Given the description of an element on the screen output the (x, y) to click on. 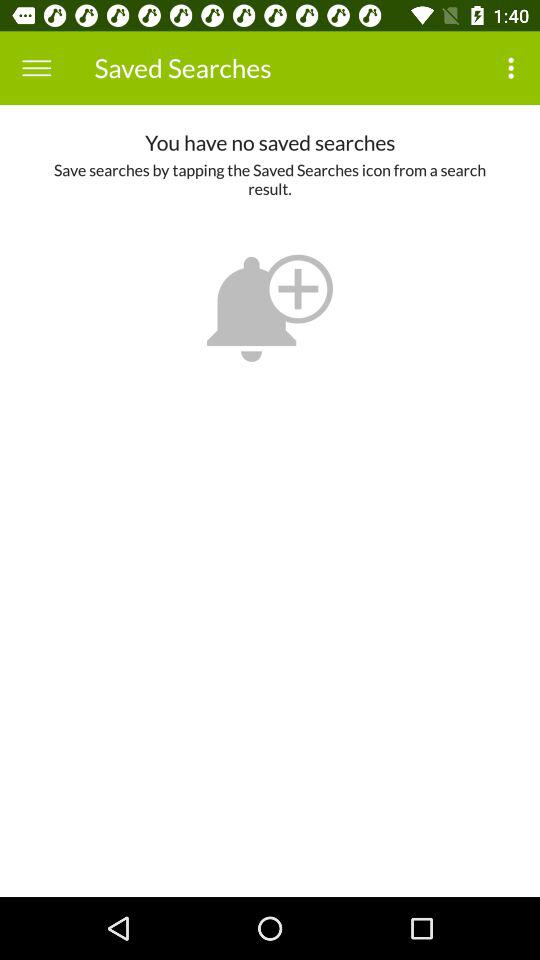
tap the icon next to the saved searches icon (513, 67)
